Given the description of an element on the screen output the (x, y) to click on. 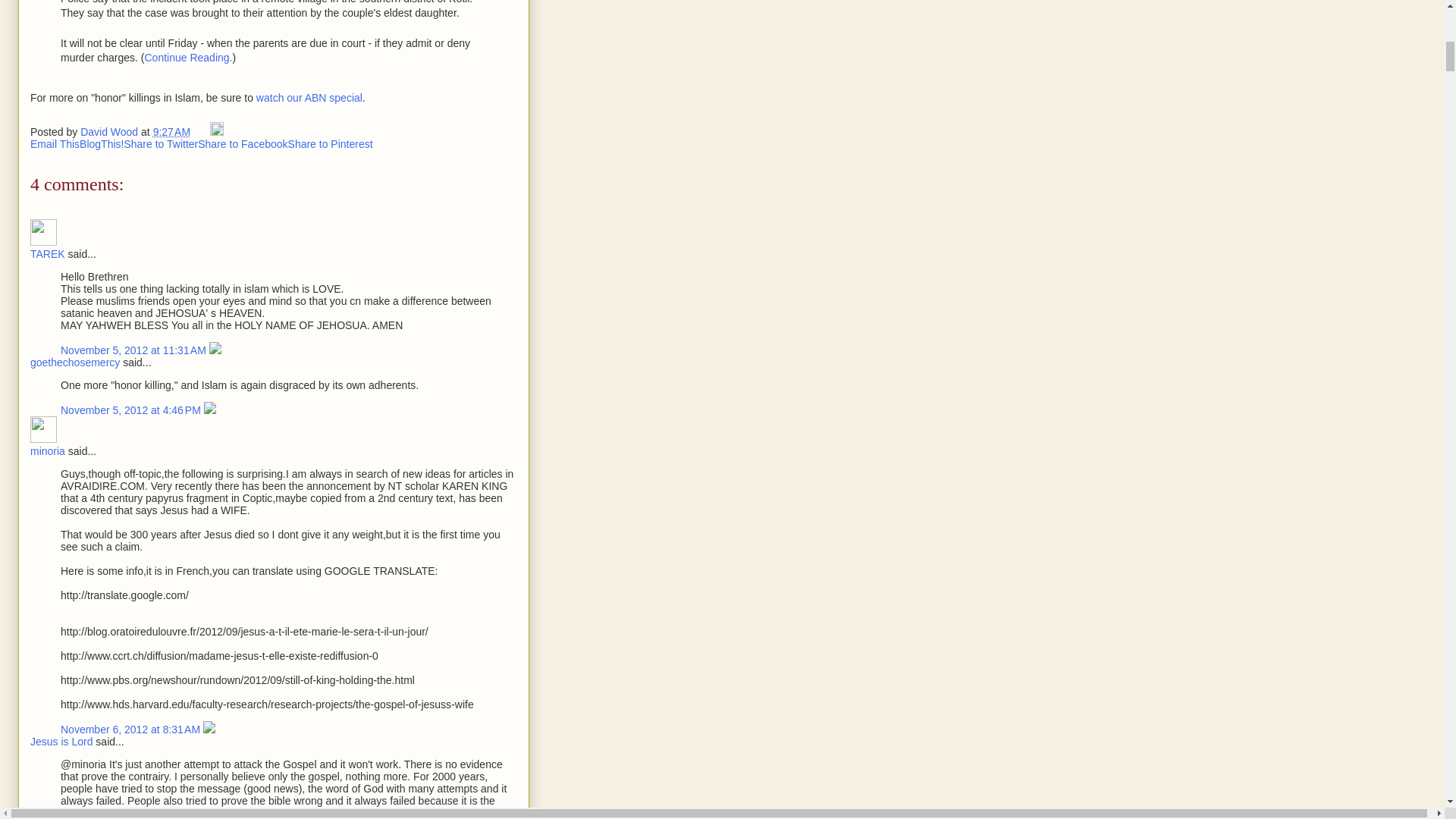
comment permalink (132, 410)
Email This (55, 143)
Email Post (201, 132)
BlogThis! (101, 143)
minoria (47, 451)
Continue Reading. (187, 57)
Email This (55, 143)
Delete Comment (215, 349)
permanent link (171, 132)
goethechosemercy (74, 362)
Share to Pinterest (330, 143)
David Wood (110, 132)
